Given the description of an element on the screen output the (x, y) to click on. 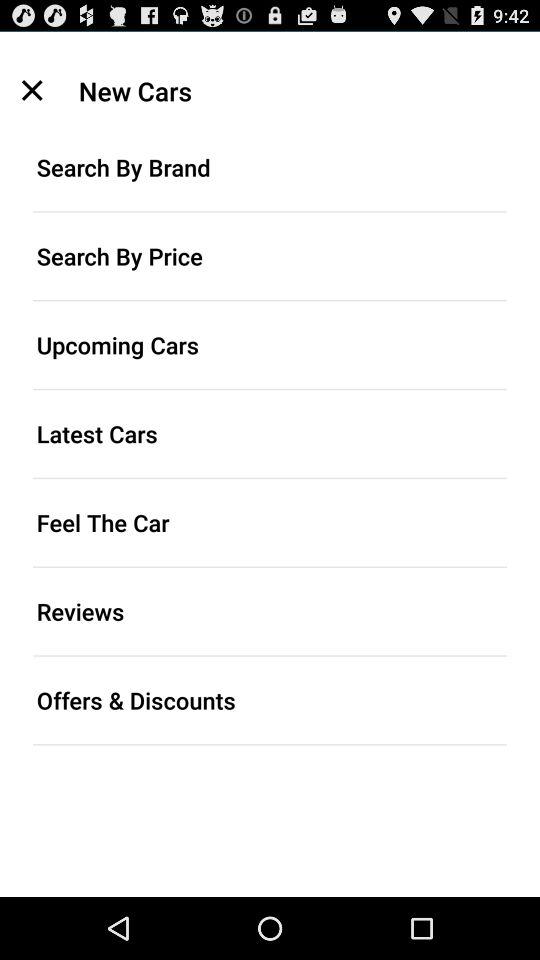
close menu (32, 90)
